Given the description of an element on the screen output the (x, y) to click on. 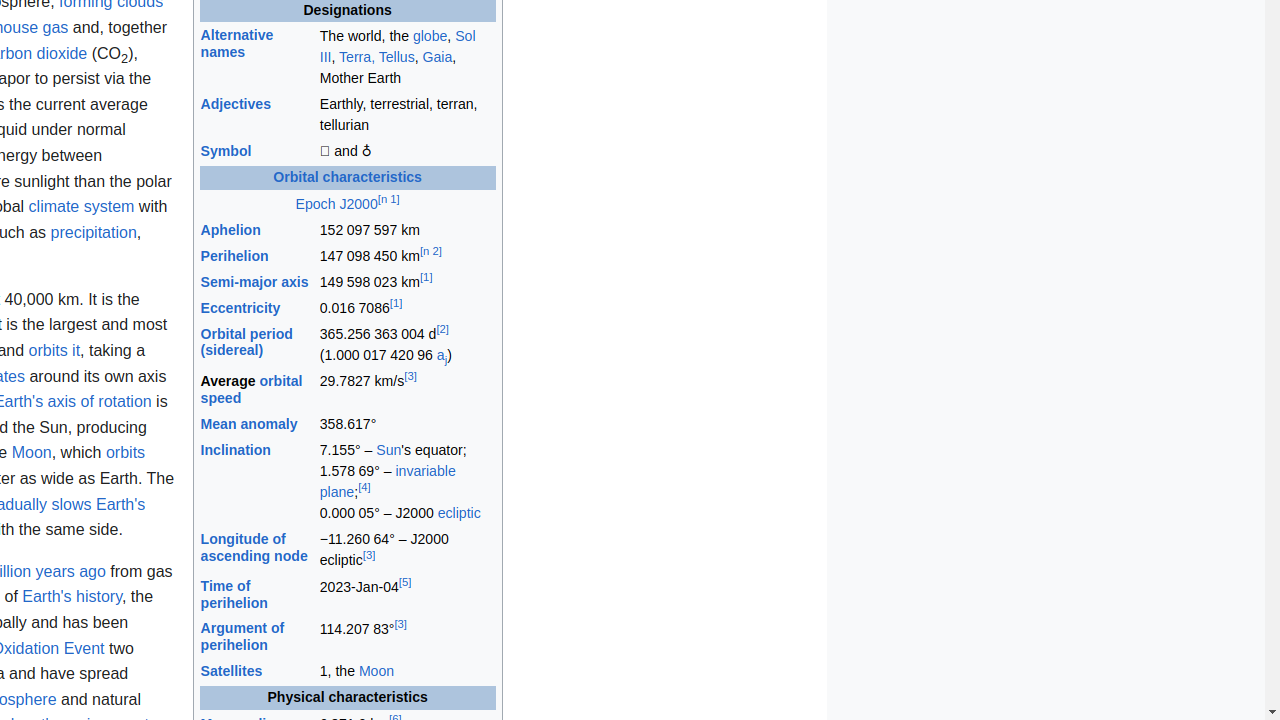
Earthly, terrestrial, terran, tellurian Element type: table-cell (407, 115)
Longitude of ascending node Element type: link (254, 547)
invariable plane Element type: link (387, 481)
Mean anomaly Element type: link (249, 423)
Epoch Element type: link (315, 203)
